Given the description of an element on the screen output the (x, y) to click on. 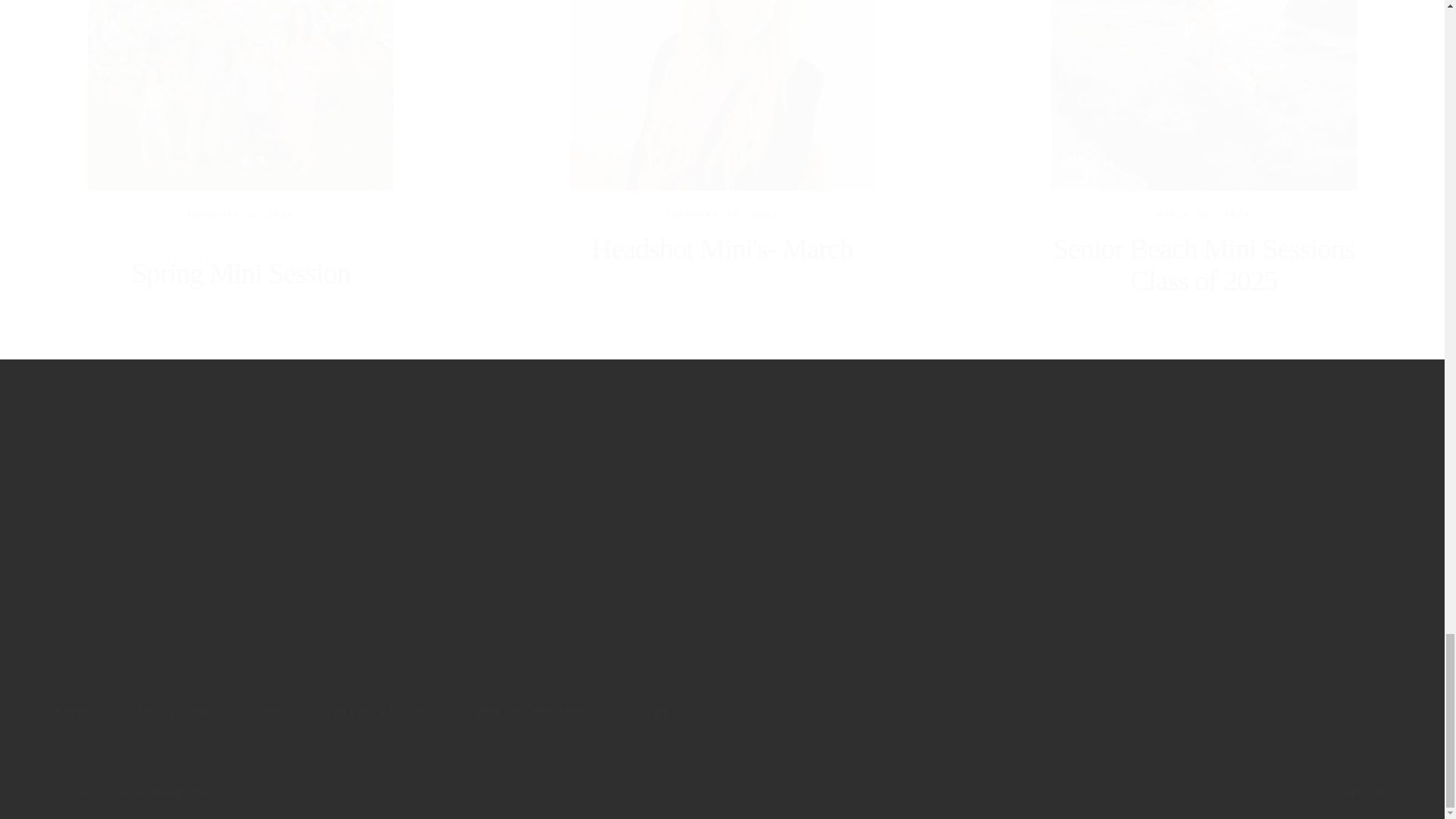
HOME (71, 711)
CONTACT ME (168, 711)
CLIENTS (657, 711)
FAMILY (295, 237)
HOW TO PREPARE (532, 711)
BLOG (266, 711)
SENIOR GALLERY (379, 711)
